Given the description of an element on the screen output the (x, y) to click on. 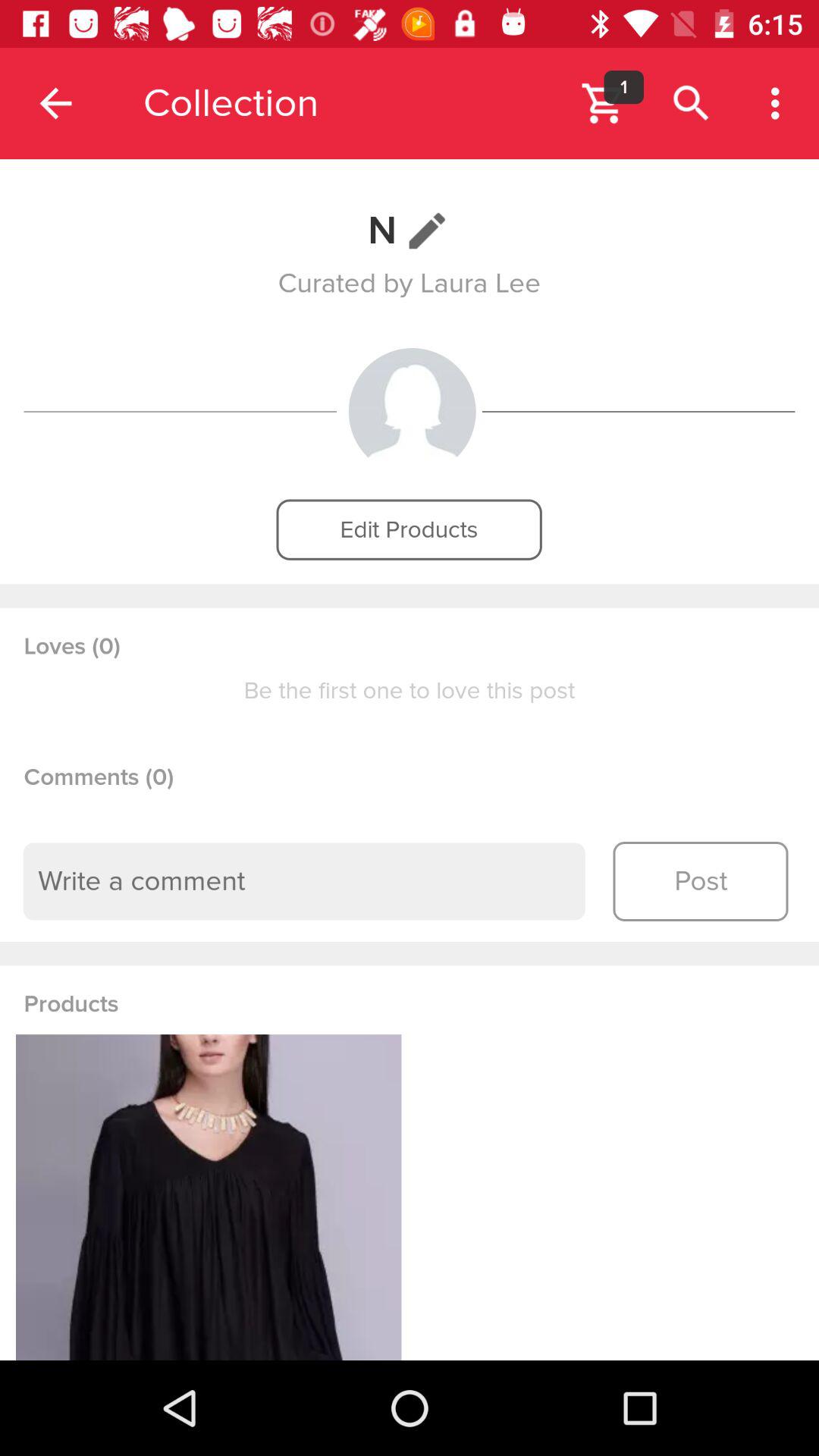
enter text (304, 881)
